Given the description of an element on the screen output the (x, y) to click on. 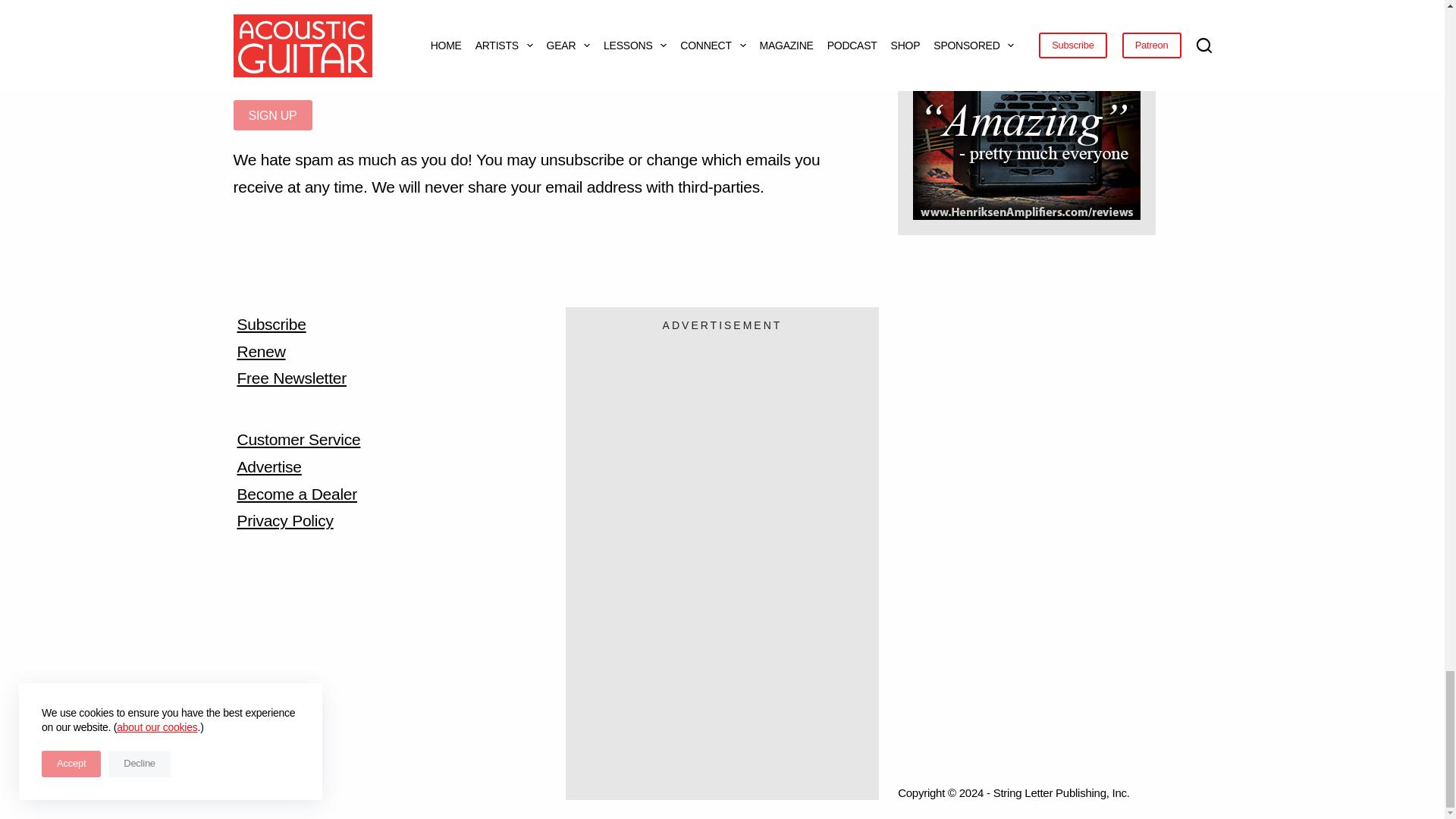
Advertisement: Henriksen (1026, 125)
your email address (546, 69)
